Given the description of an element on the screen output the (x, y) to click on. 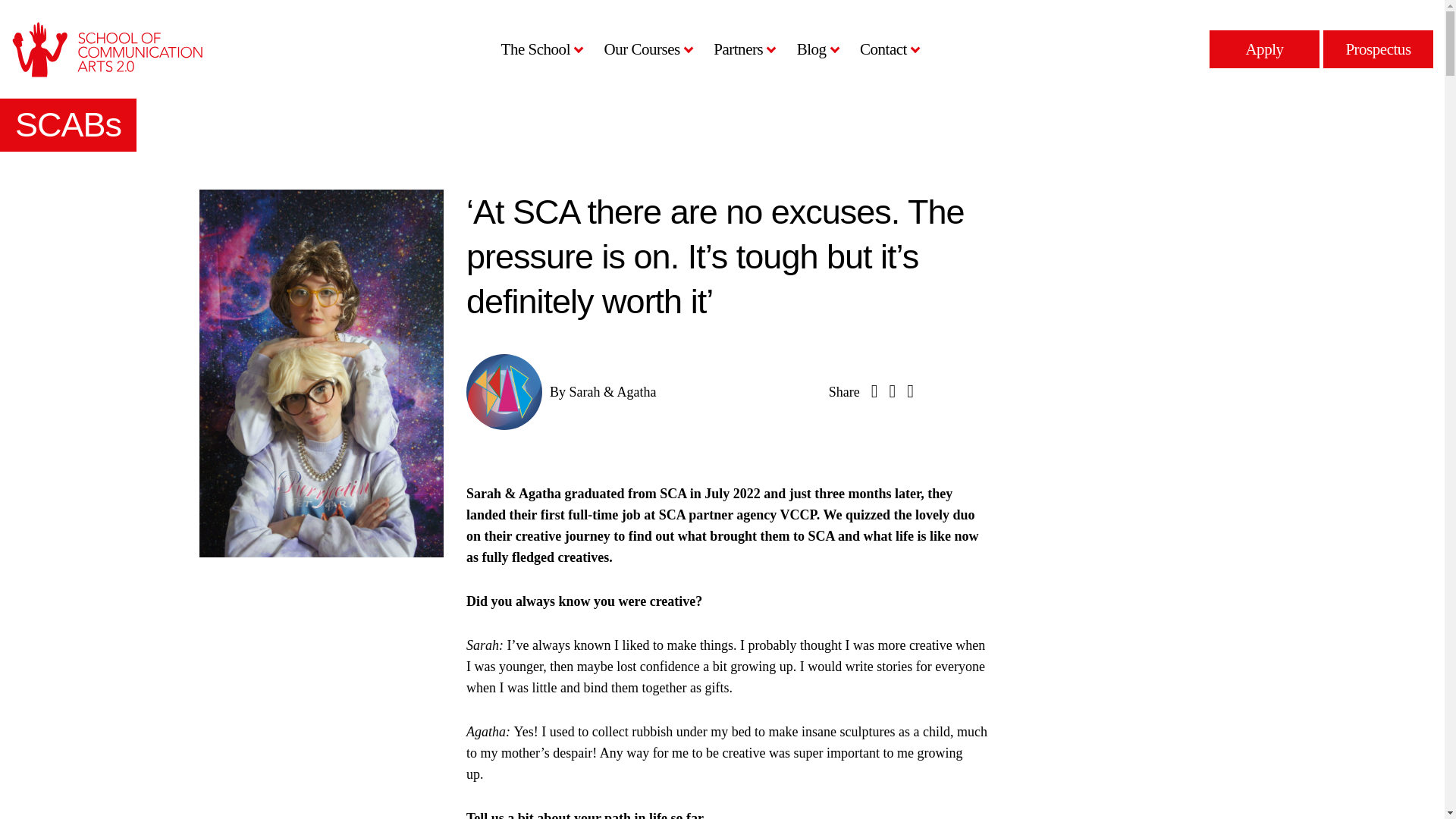
Our Courses (645, 49)
Contact (887, 49)
Blog (814, 49)
The School (539, 49)
Prospectus (1377, 48)
Apply (1264, 48)
Partners (741, 49)
